Given the description of an element on the screen output the (x, y) to click on. 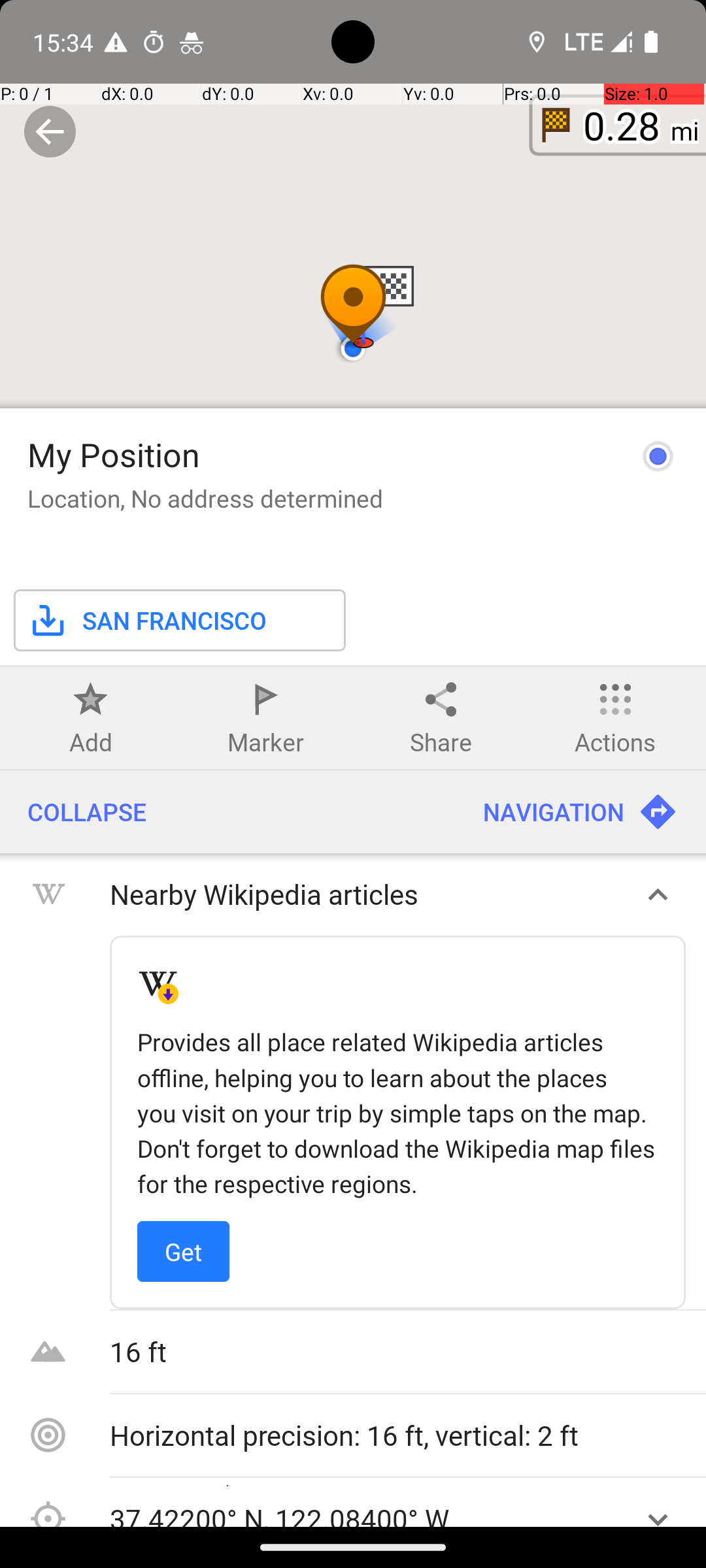
Collapse Element type: android.widget.ImageView (49, 131)
My Position Element type: android.widget.TextView (113, 454)
Location, No address determined Element type: android.widget.TextView (205, 497)
COLLAPSE Element type: android.widget.TextView (227, 811)
NAVIGATION Element type: android.widget.TextView (580, 811)
Marker Element type: android.widget.TextView (265, 741)
Provides all place related Wikipedia articles offline, helping you to learn about the places you visit on your trip by simple taps on the map. Don't forget to download the Wikipedia map files for the respective regions. Element type: android.widget.TextView (397, 1112)
SAN FRANCISCO Element type: android.widget.TextView (146, 620)
Nearby Wikipedia articles Element type: android.widget.TextView (364, 893)
Get Element type: android.widget.TextView (183, 1251)
16 ft Element type: android.widget.TextView (399, 1351)
Horizontal precision: 16 ft, vertical: 2 ft Element type: android.widget.TextView (399, 1434)
37.42200° N, 122.08400° W Element type: android.widget.TextView (364, 1513)
